Given the description of an element on the screen output the (x, y) to click on. 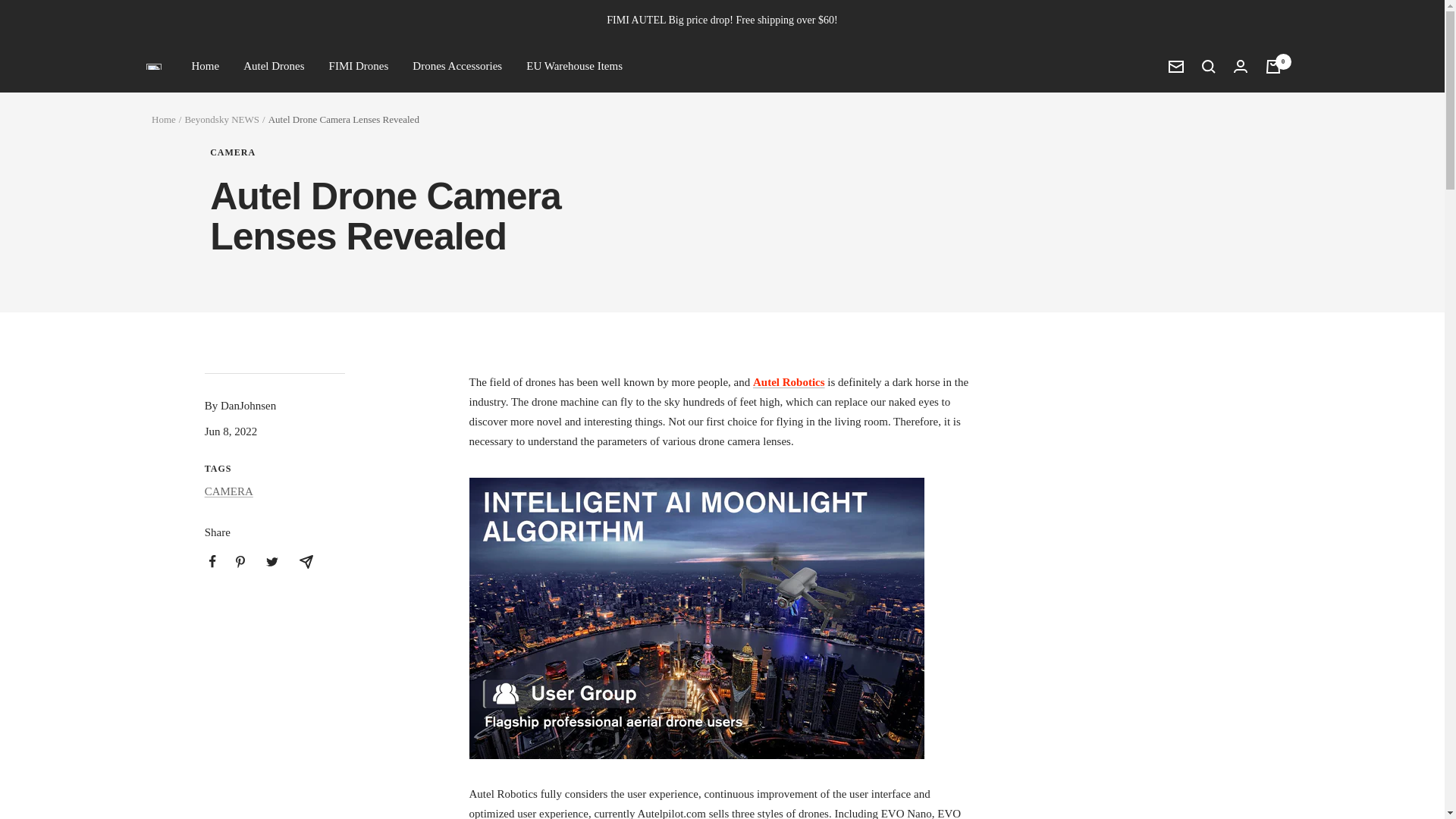
EU Warehouse Items (574, 66)
Drones Accessories (457, 66)
0 (1272, 66)
Beyondsky NEWS (221, 119)
Home (163, 119)
Home (204, 66)
autel drone (788, 381)
BeyondskyRC (152, 66)
CAMERA (438, 152)
Autel Drones (273, 66)
Newsletter (1174, 66)
FIMI Drones (358, 66)
